Given the description of an element on the screen output the (x, y) to click on. 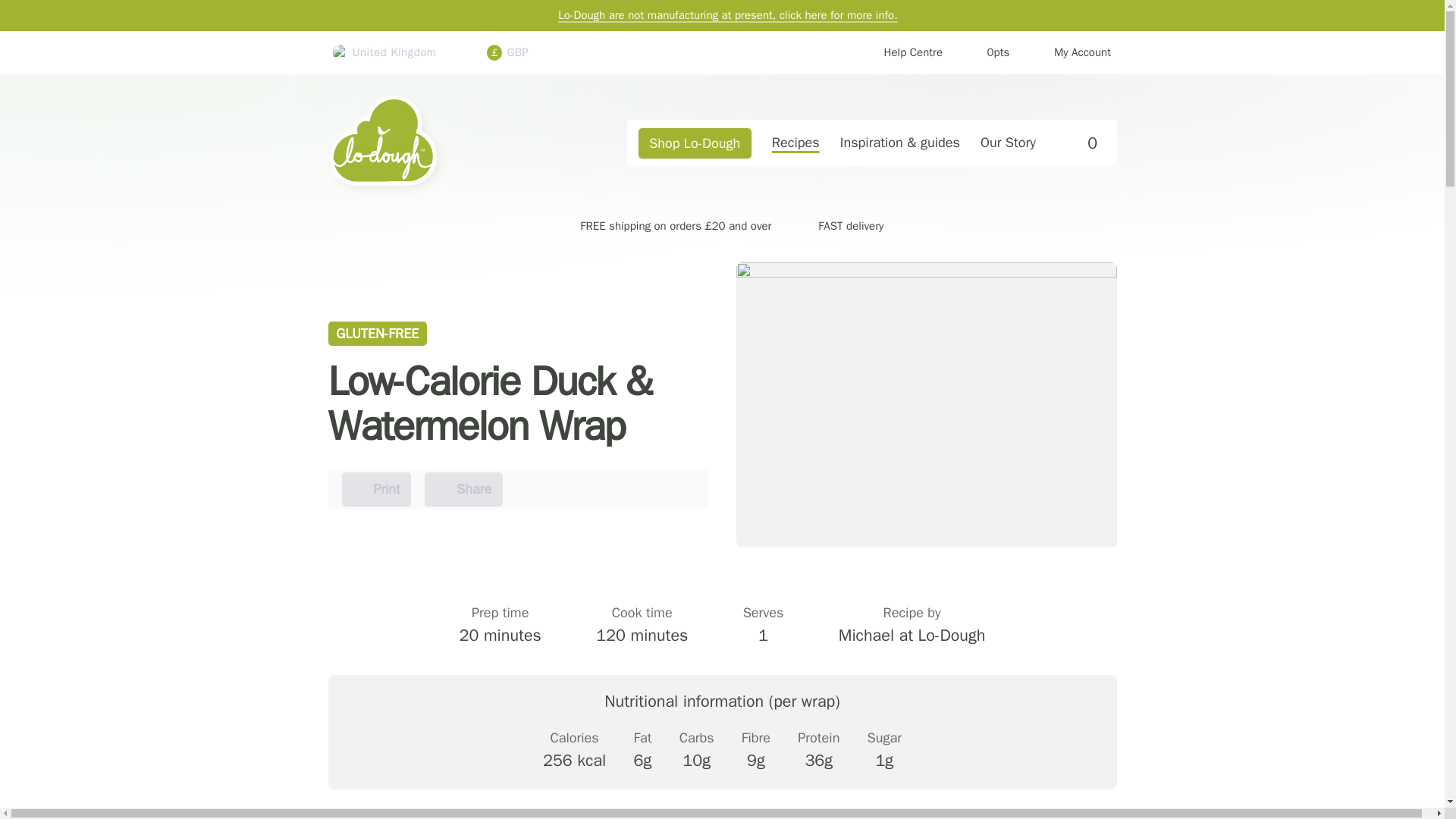
Submit (1078, 143)
Shop Lo-Dough (377, 489)
0pts (695, 142)
Help Centre (986, 53)
Lo-Dough (902, 53)
Lo-Dough (440, 143)
Submit (440, 143)
